Given the description of an element on the screen output the (x, y) to click on. 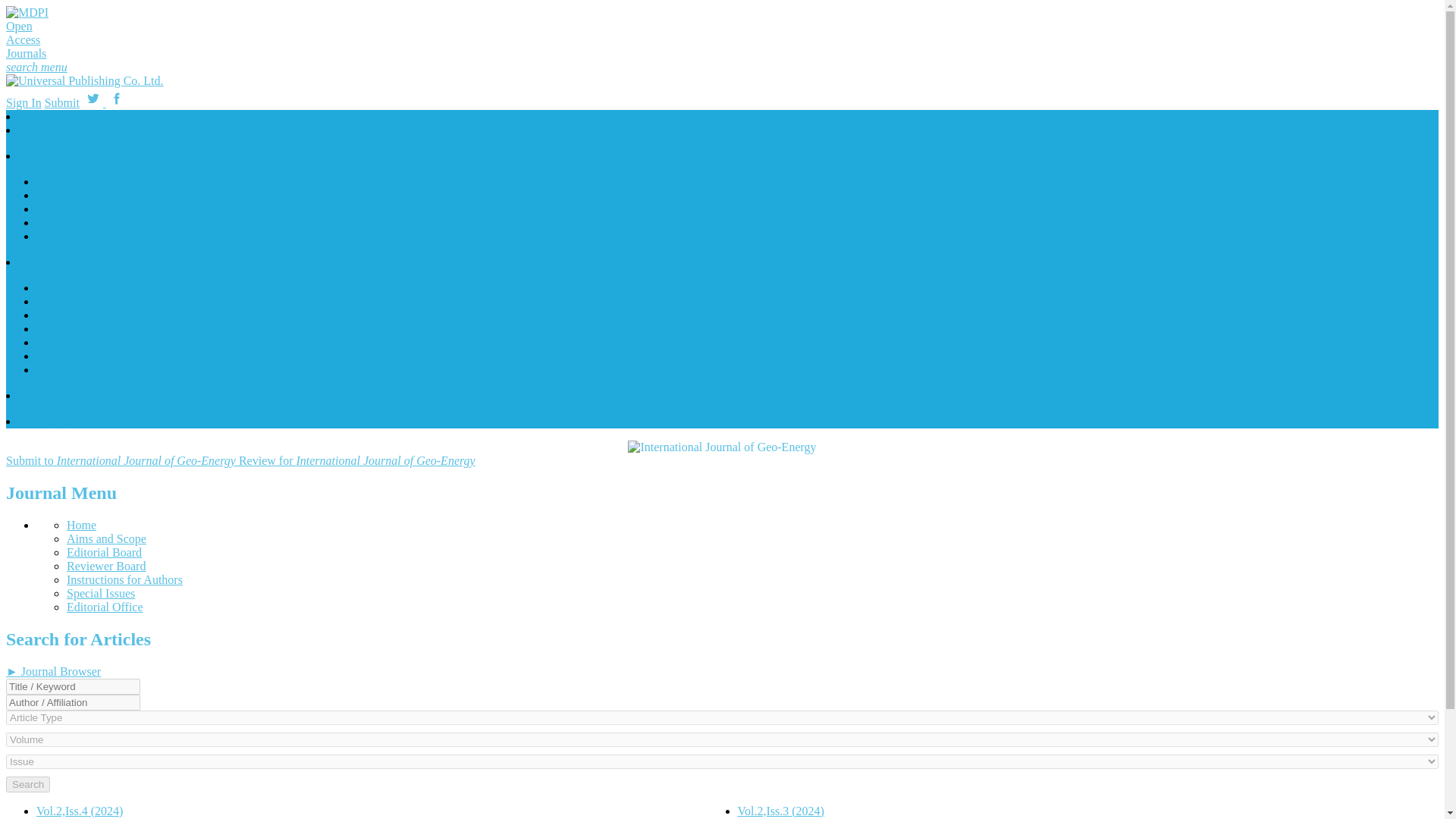
Reviewer Board (105, 565)
Article Processing Charges (102, 328)
Search (27, 784)
Contact Us (50, 420)
Home (81, 524)
Universal Publishing Co. Ltd. (84, 80)
Aims and Scope (106, 538)
Special Issues (100, 593)
Home (37, 115)
Sign In (23, 102)
For Editors (63, 314)
International Journal of Geo-Energy (721, 447)
For Reviewers (71, 300)
MDPI Open Access Journals (30, 32)
